Given the description of an element on the screen output the (x, y) to click on. 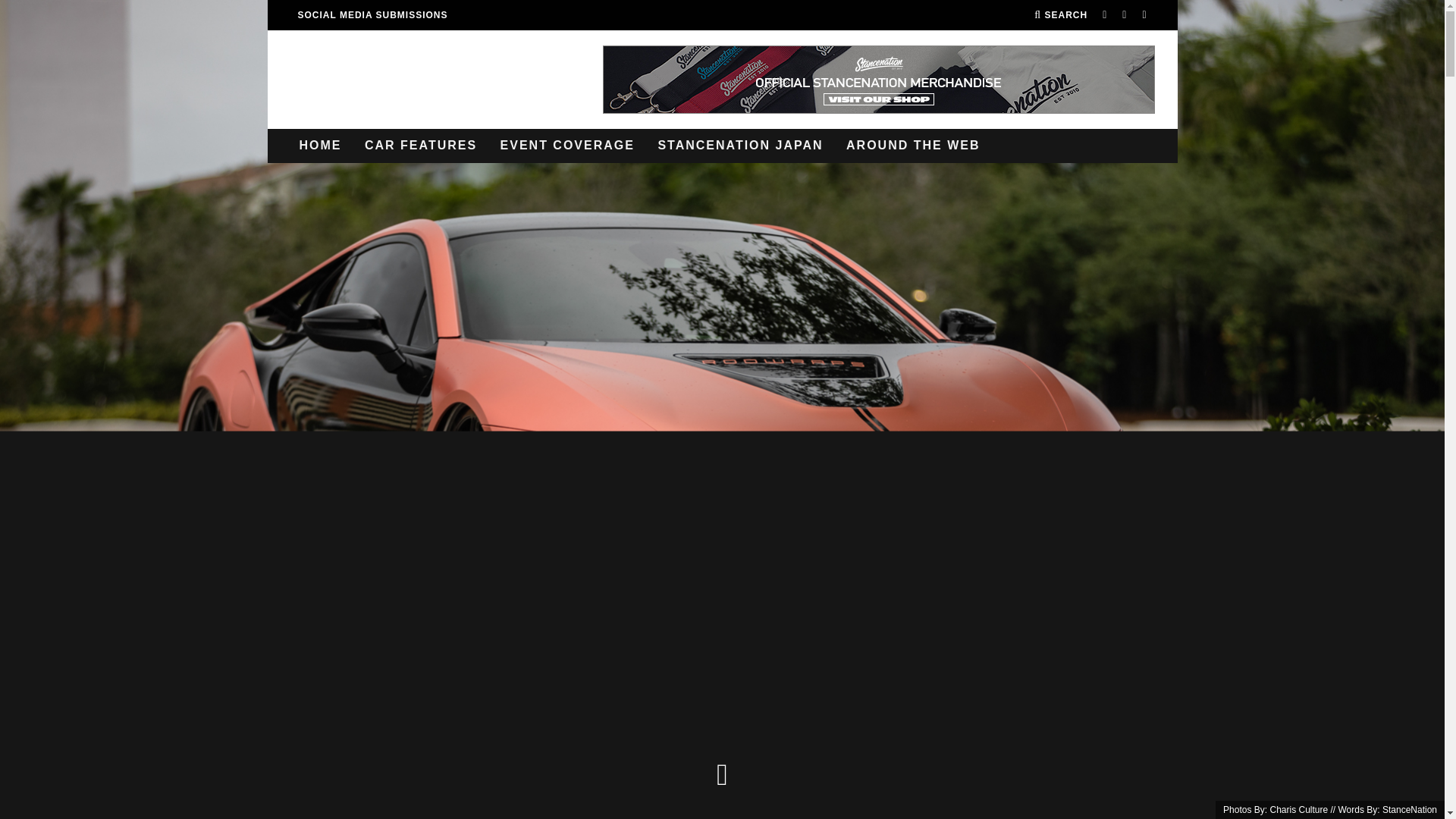
SEARCH (1060, 15)
SOCIAL MEDIA SUBMISSIONS (371, 15)
Log In (721, 409)
Search (1060, 15)
HOME (319, 145)
CAR FEATURES (420, 145)
EVENT COVERAGE (567, 145)
